Given the description of an element on the screen output the (x, y) to click on. 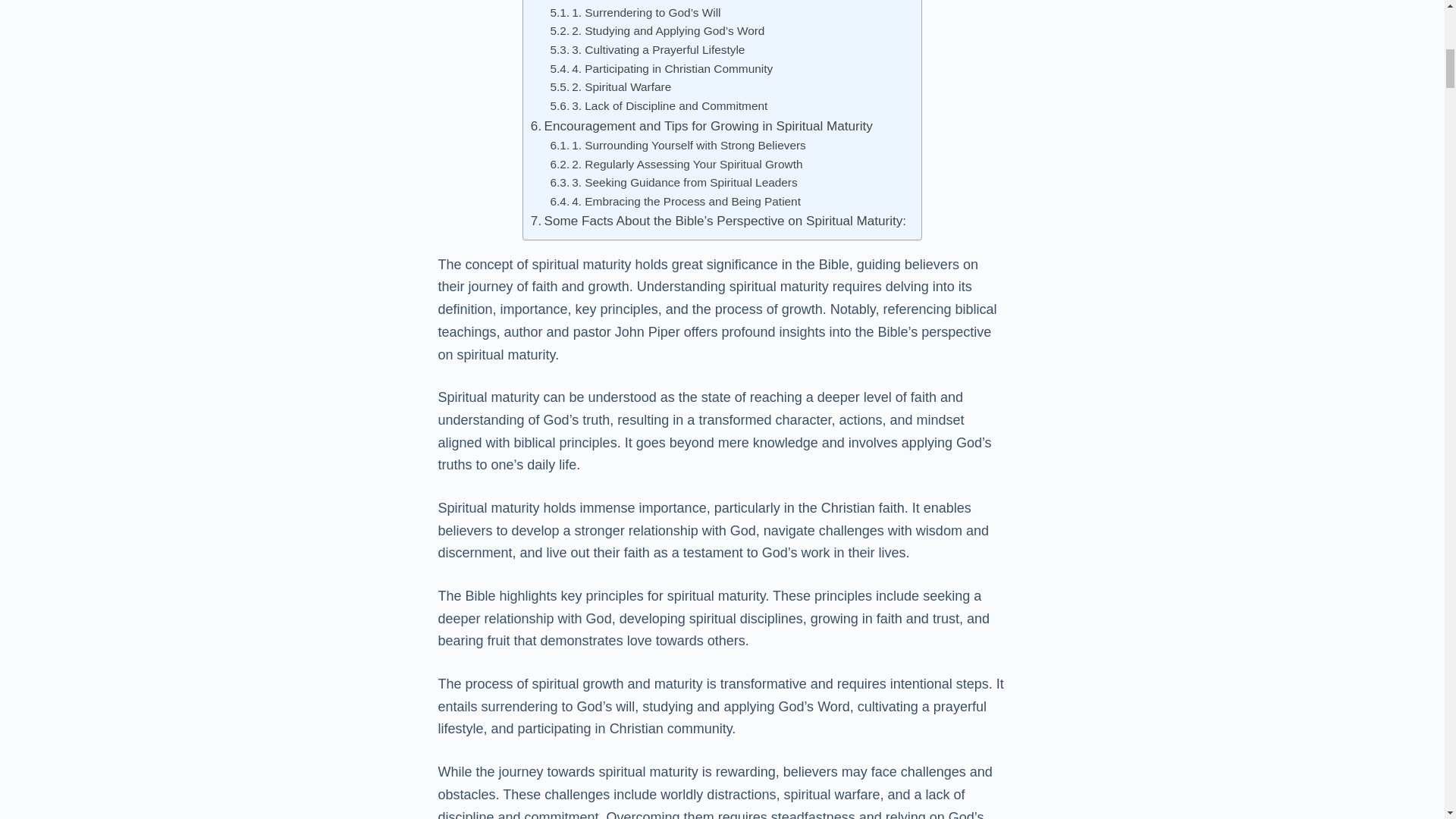
The Process of Spiritual Growth and Maturity (666, 2)
The Process of Spiritual Growth and Maturity (666, 2)
2. Spiritual Warfare (610, 87)
1. Surrounding Yourself with Strong Believers (678, 145)
4. Participating in Christian Community (661, 68)
Encouragement and Tips for Growing in Spiritual Maturity (701, 126)
2. Regularly Assessing Your Spiritual Growth (676, 164)
3. Cultivating a Prayerful Lifestyle (647, 49)
3. Lack of Discipline and Commitment (659, 106)
